Given the description of an element on the screen output the (x, y) to click on. 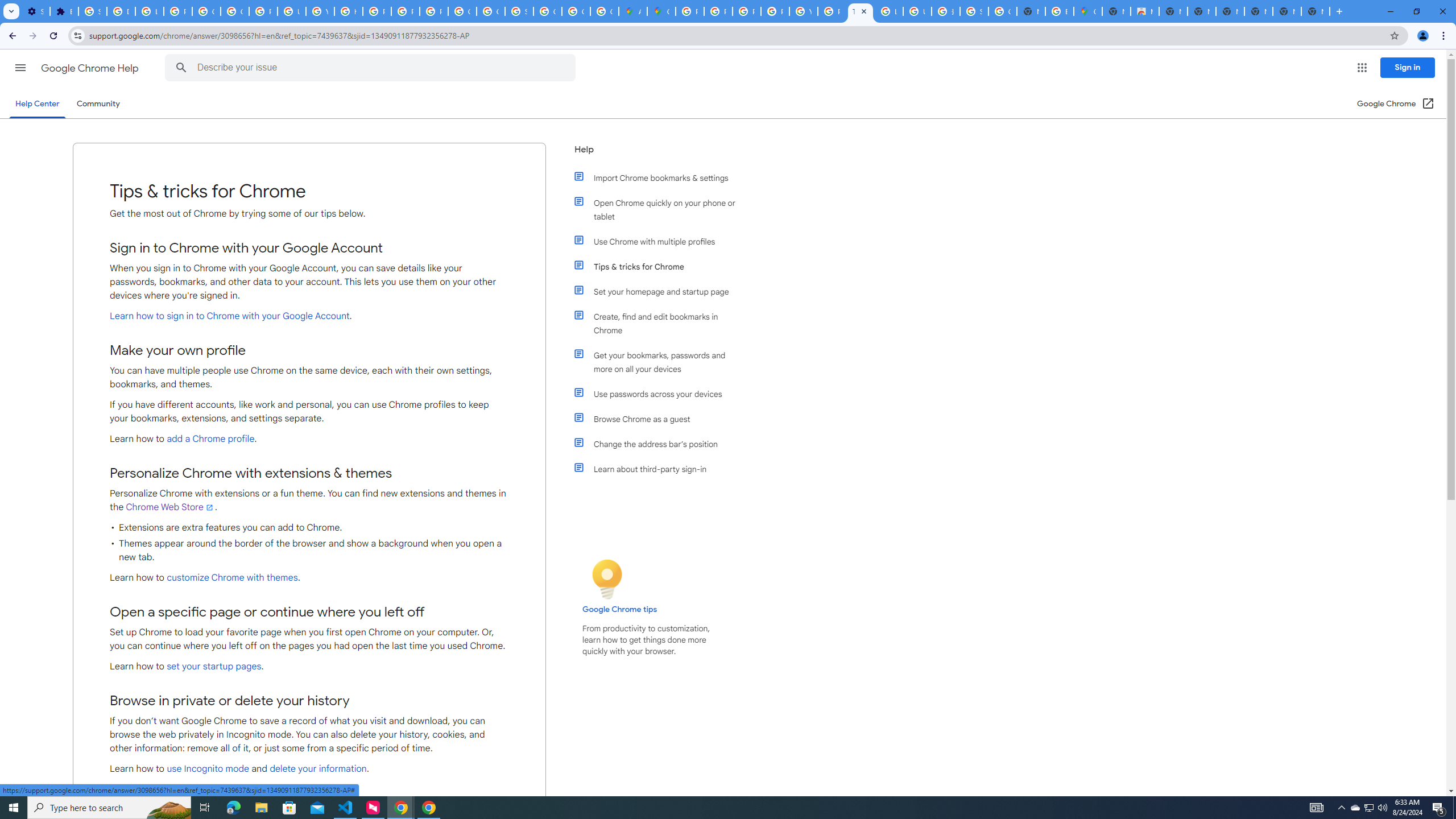
customize Chrome with themes (231, 577)
New Tab (1116, 11)
Explore new street-level details - Google Maps Help (1058, 11)
Privacy Help Center - Policies Help (377, 11)
Tips & tricks for Chrome (661, 266)
Learn about third-party sign-in (661, 469)
Get your bookmarks, passwords and more on all your devices (661, 362)
Describe your issue (371, 67)
